Given the description of an element on the screen output the (x, y) to click on. 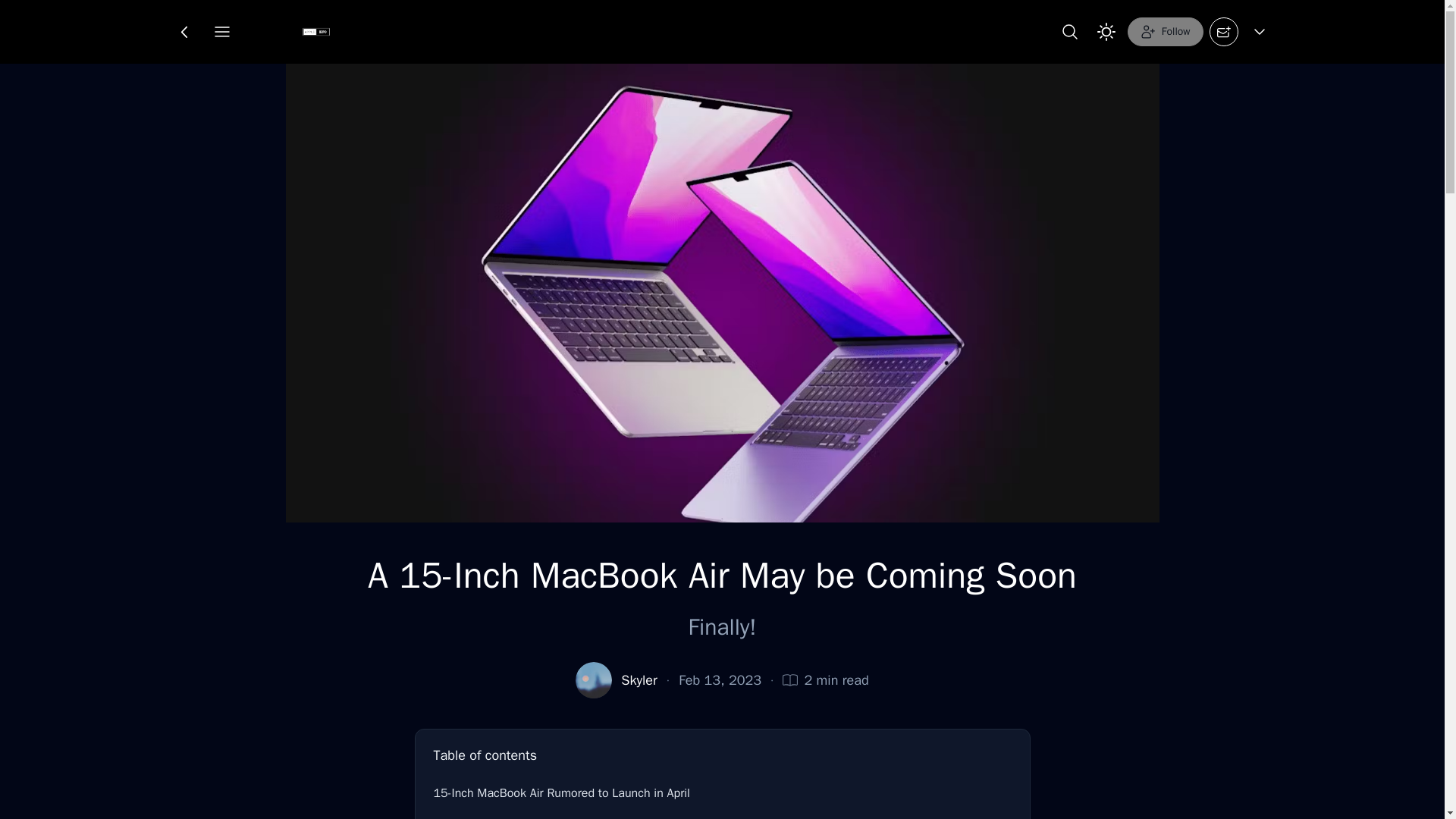
Skyler (638, 680)
M2 Chip or Next-Generation M3 Chip (722, 815)
15-Inch MacBook Air Rumored to Launch in April (722, 793)
Feb 13, 2023 (719, 680)
Follow (1165, 31)
